Given the description of an element on the screen output the (x, y) to click on. 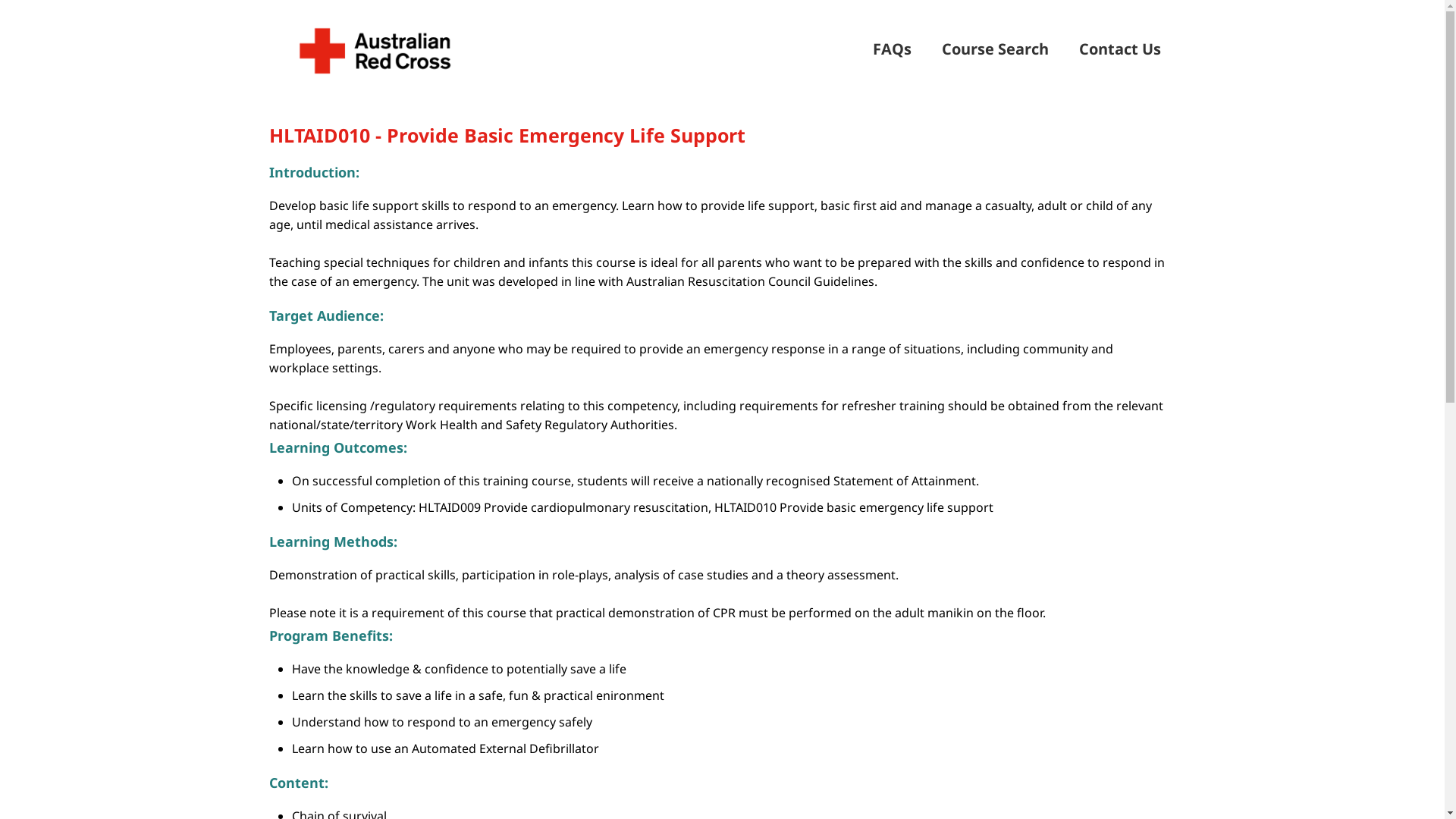
Contact Us Element type: text (1119, 49)
Australian Red Cross Element type: hover (374, 49)
Course Search Element type: text (994, 49)
FAQs Element type: text (890, 49)
